Given the description of an element on the screen output the (x, y) to click on. 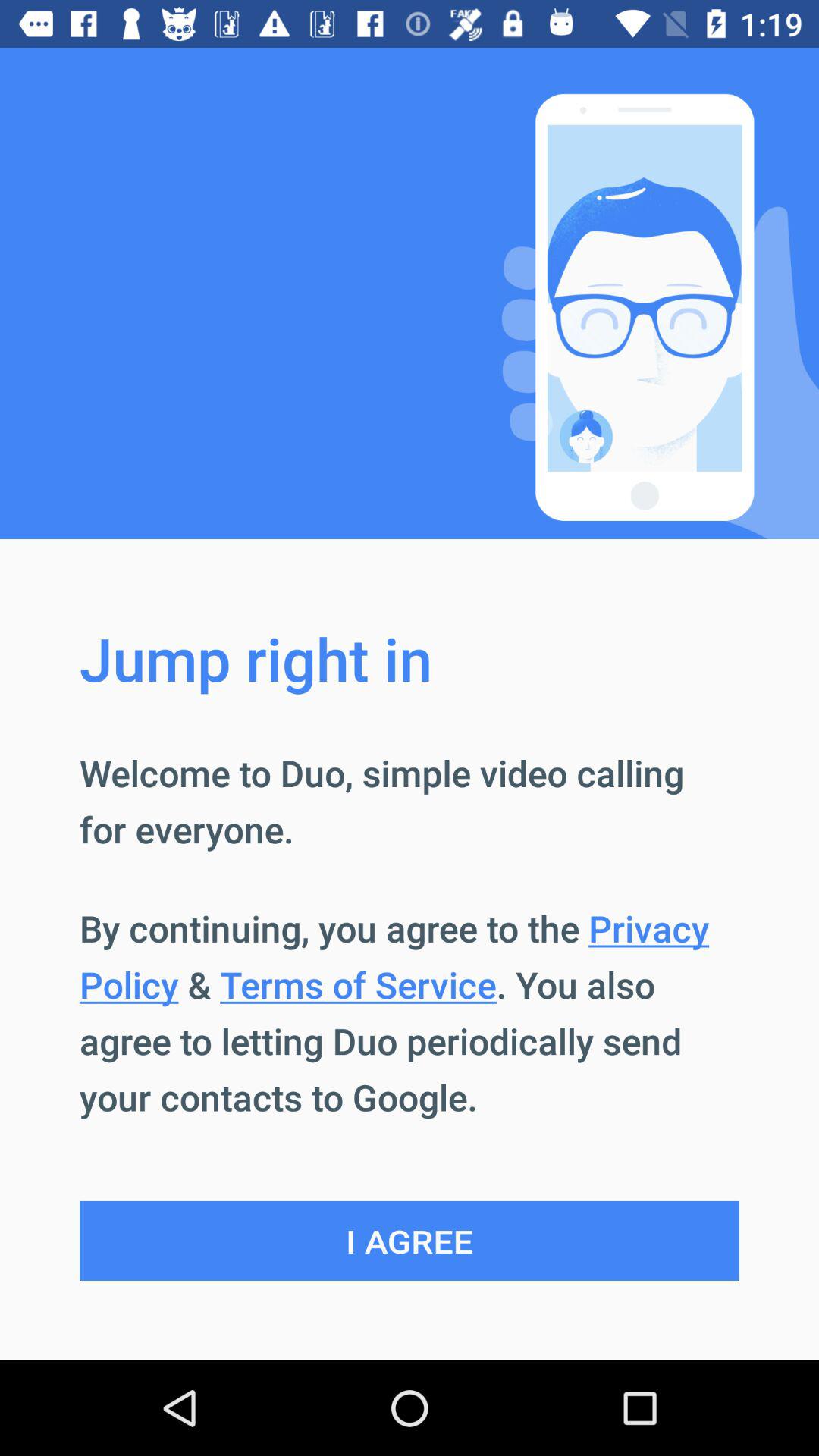
launch i agree item (409, 1240)
